Given the description of an element on the screen output the (x, y) to click on. 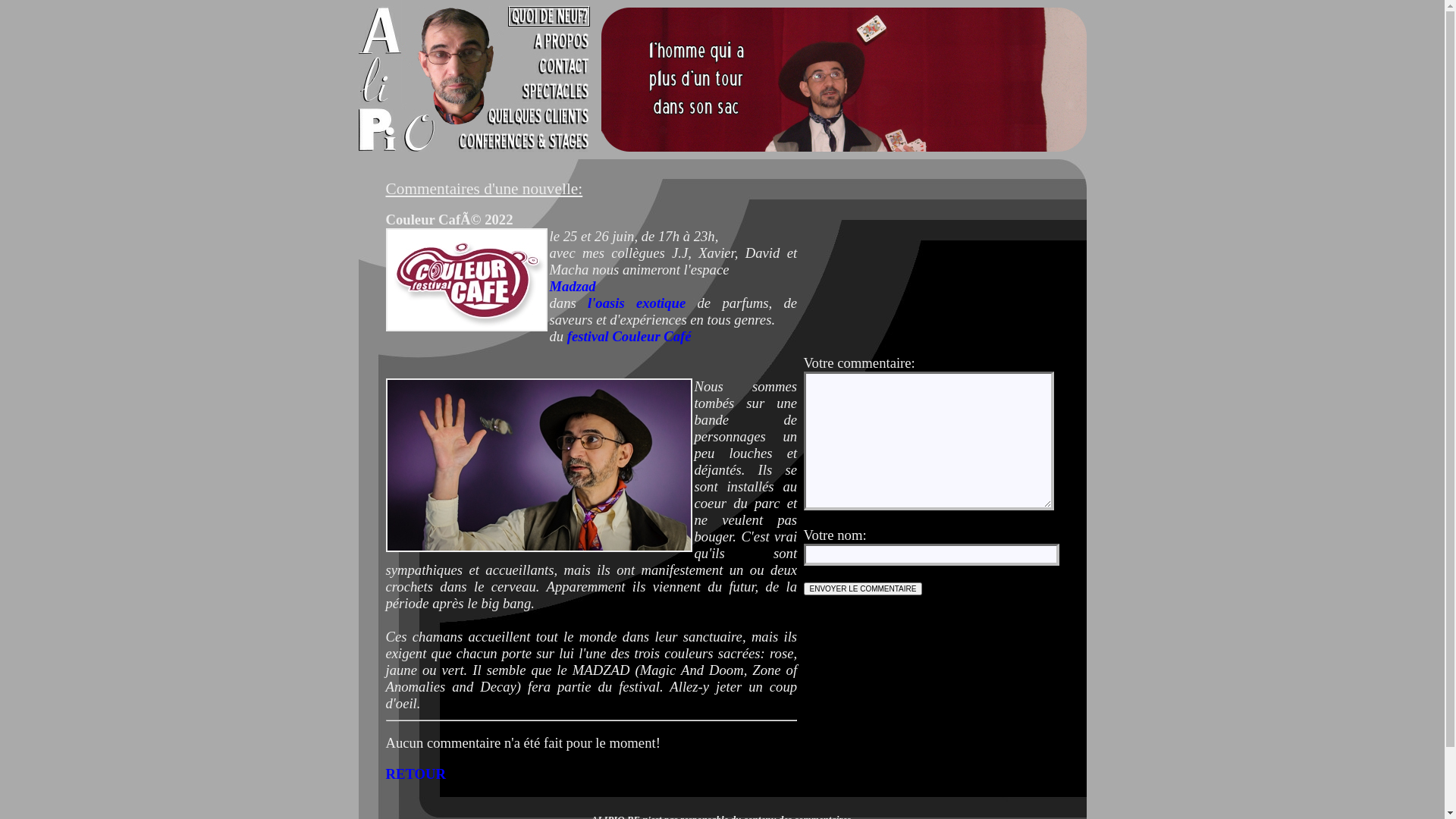
Envoyer Element type: hover (862, 588)
Madzad Element type: text (572, 286)
RETOUR Element type: text (415, 773)
ENVOYER LE COMMENTAIRE Element type: text (862, 588)
l'oasis exotique Element type: text (636, 302)
Pile ou face? Element type: hover (538, 465)
